Given the description of an element on the screen output the (x, y) to click on. 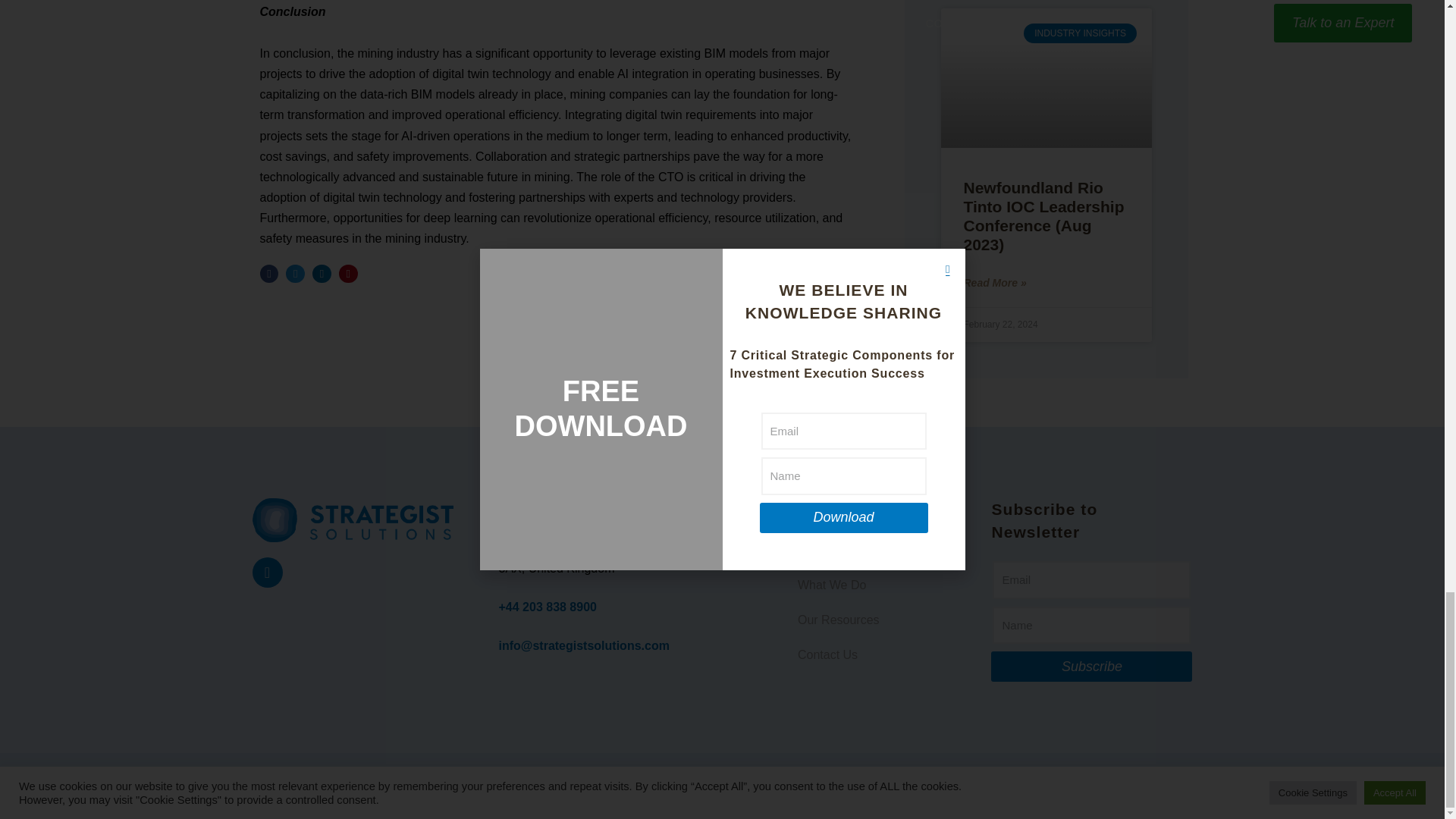
Privacy Policy (1050, 777)
Subscribe (1091, 621)
Subscribe to Newsletter (1091, 529)
